Given the description of an element on the screen output the (x, y) to click on. 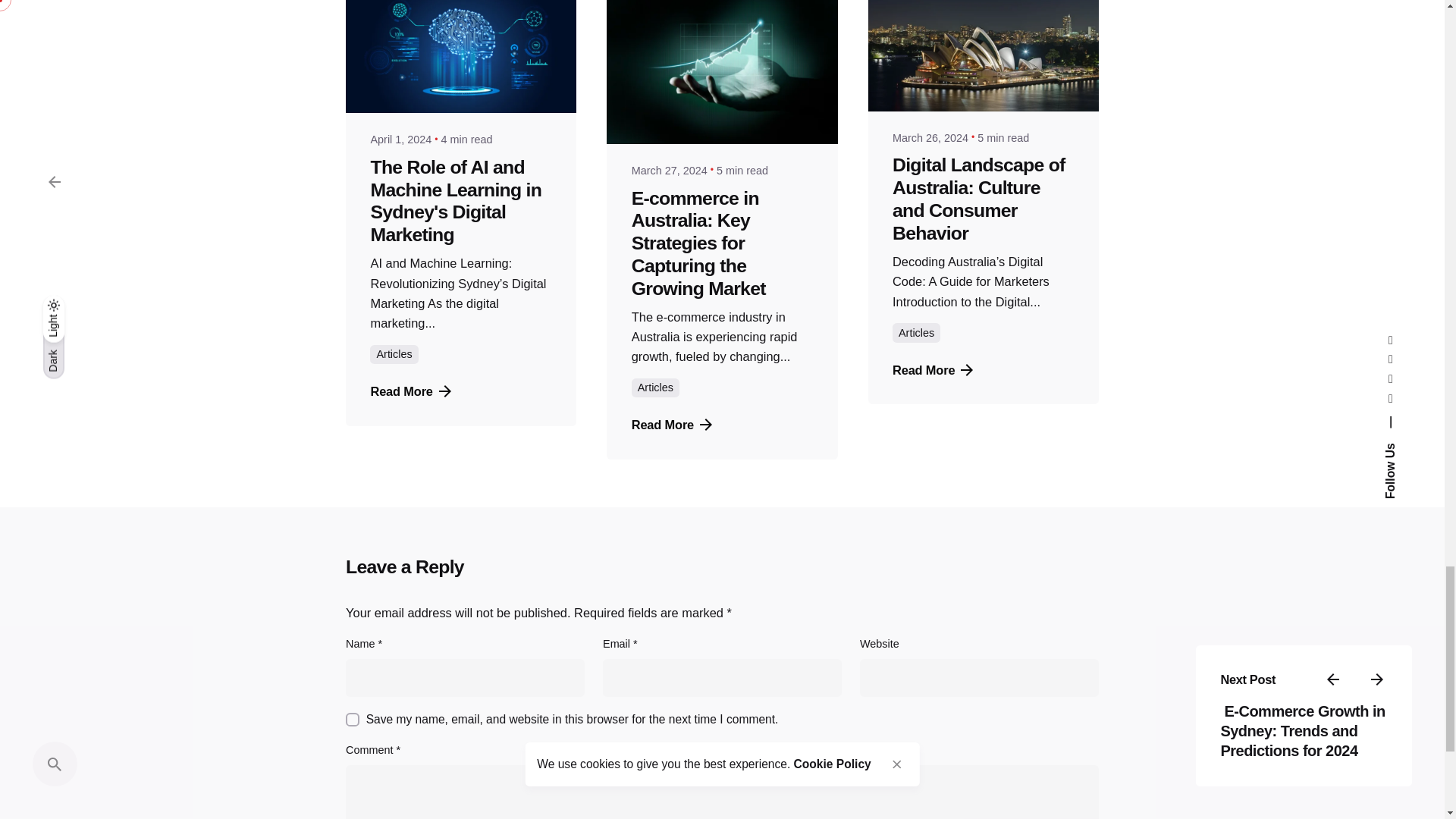
yes (352, 719)
